Given the description of an element on the screen output the (x, y) to click on. 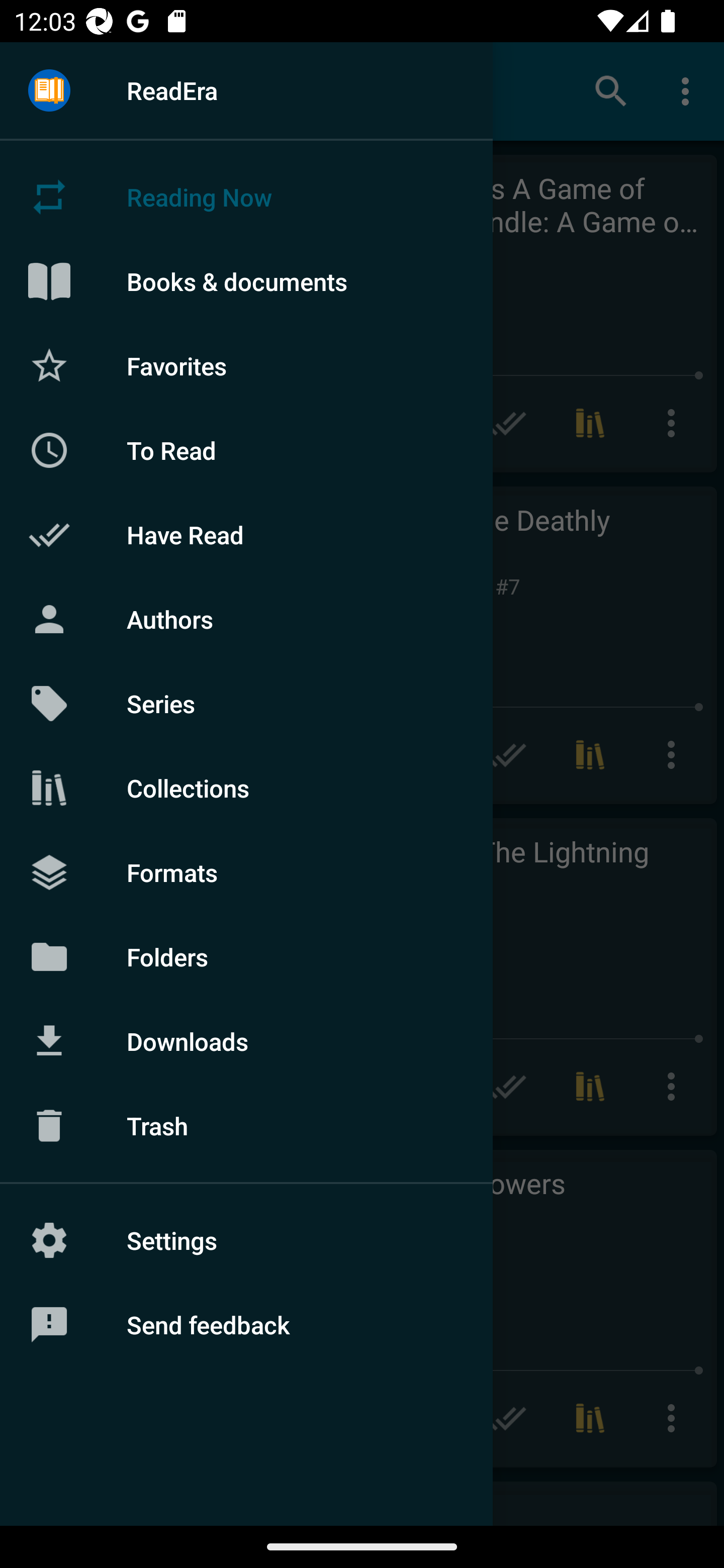
Menu (49, 91)
ReadEra (246, 89)
Search books & documents (611, 90)
More options (688, 90)
Reading Now (246, 197)
Books & documents (246, 281)
Favorites (246, 365)
To Read (246, 449)
Have Read (246, 534)
Authors (246, 619)
Series (246, 703)
Collections (246, 787)
Formats (246, 871)
Folders (246, 956)
Downloads (246, 1040)
Trash (246, 1125)
Settings (246, 1239)
Send feedback (246, 1324)
